Given the description of an element on the screen output the (x, y) to click on. 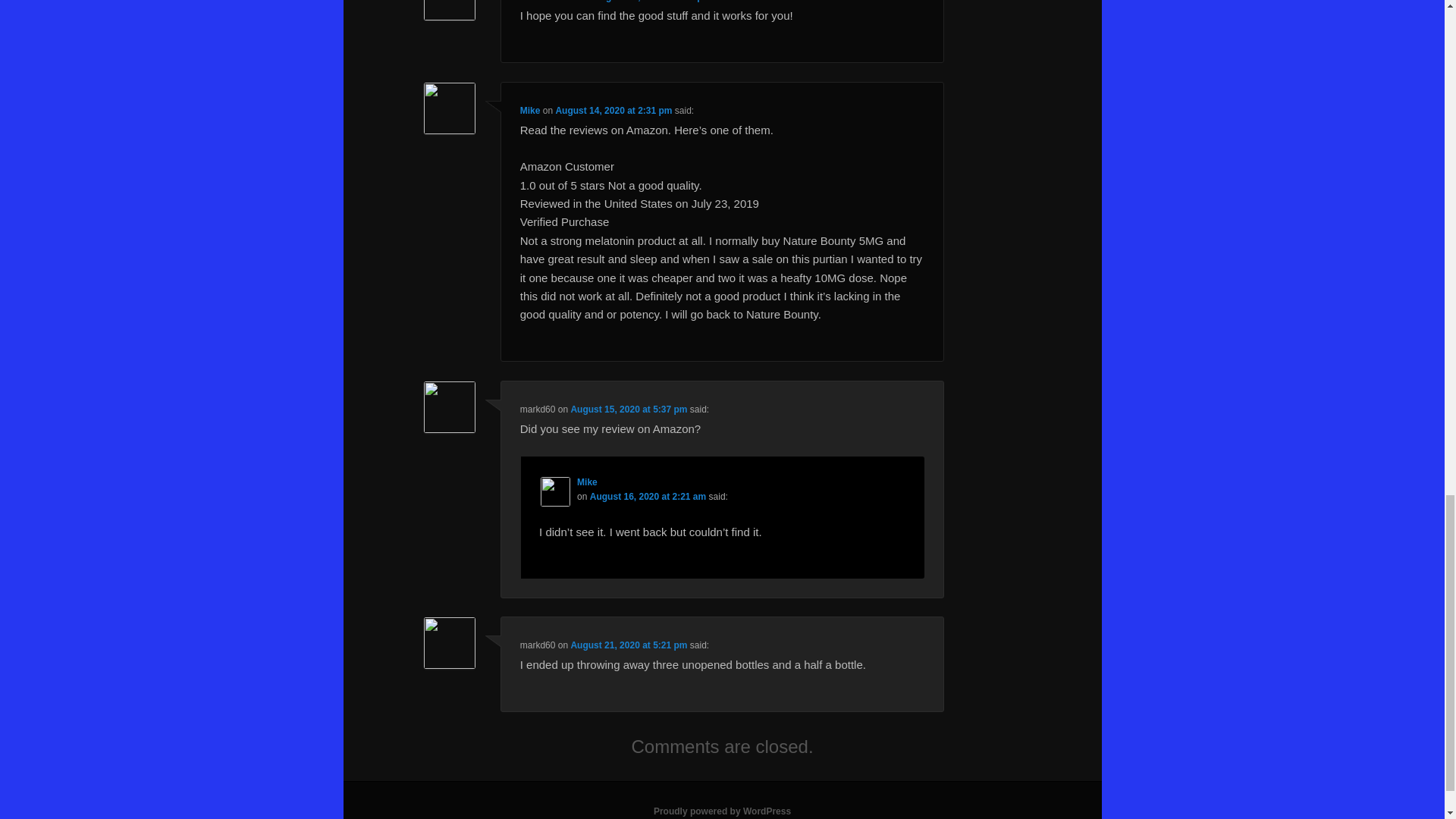
Proudly powered by WordPress (721, 810)
August 14, 2020 at 2:31 pm (612, 110)
Semantic Personal Publishing Platform (721, 810)
Mike (529, 110)
August 15, 2020 at 5:37 pm (628, 409)
August 14, 2020 at 1:48 pm (652, 1)
Mike (586, 481)
August 21, 2020 at 5:21 pm (628, 644)
August 16, 2020 at 2:21 am (647, 496)
Lois Evensen (548, 1)
